Given the description of an element on the screen output the (x, y) to click on. 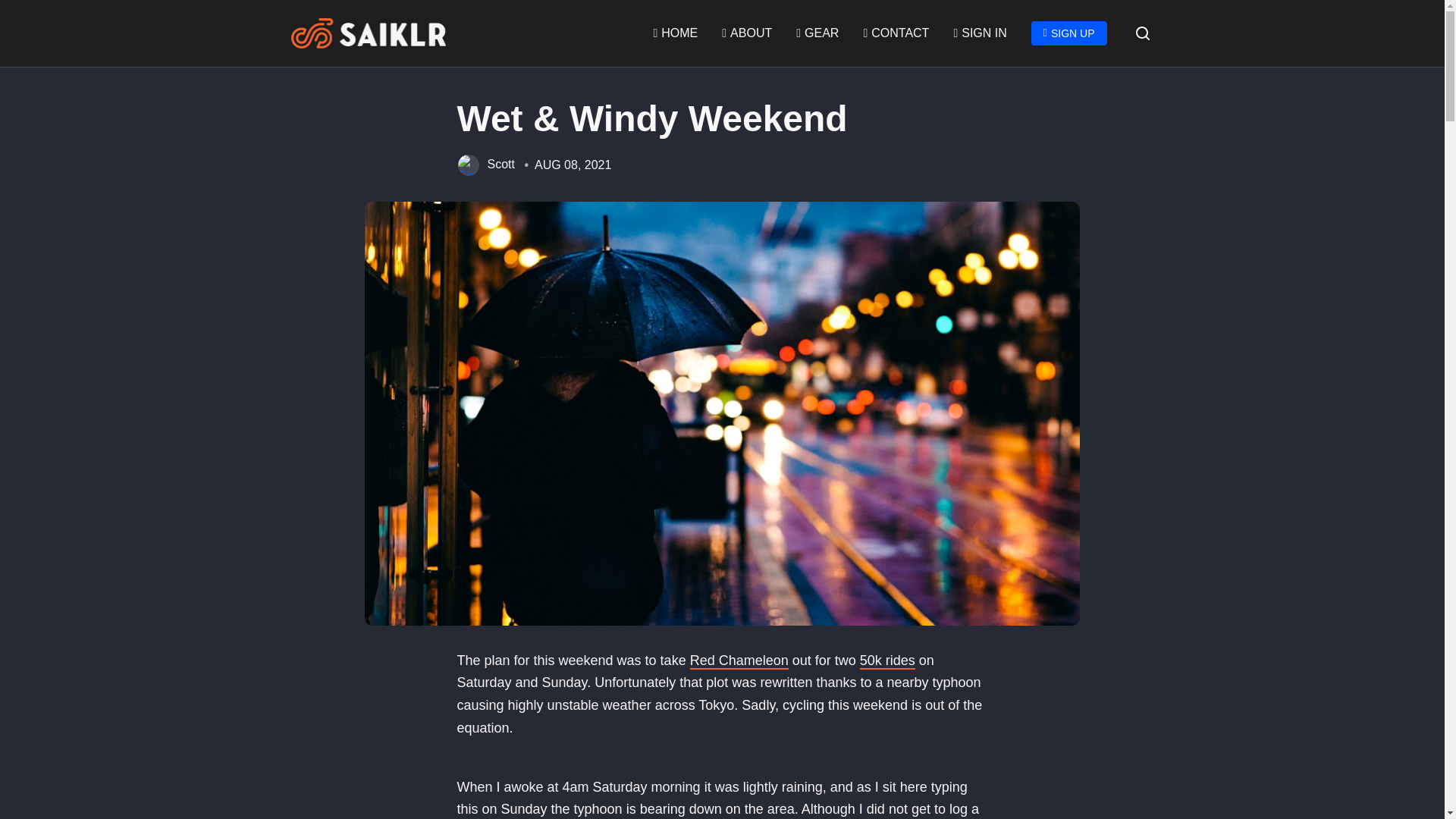
SIGN IN (979, 33)
CONTACT (895, 33)
HOME (674, 33)
Scott (499, 164)
ABOUT (746, 33)
50k rides (887, 660)
Red Chameleon (739, 660)
GEAR (817, 33)
SIGN UP (1068, 33)
